Given the description of an element on the screen output the (x, y) to click on. 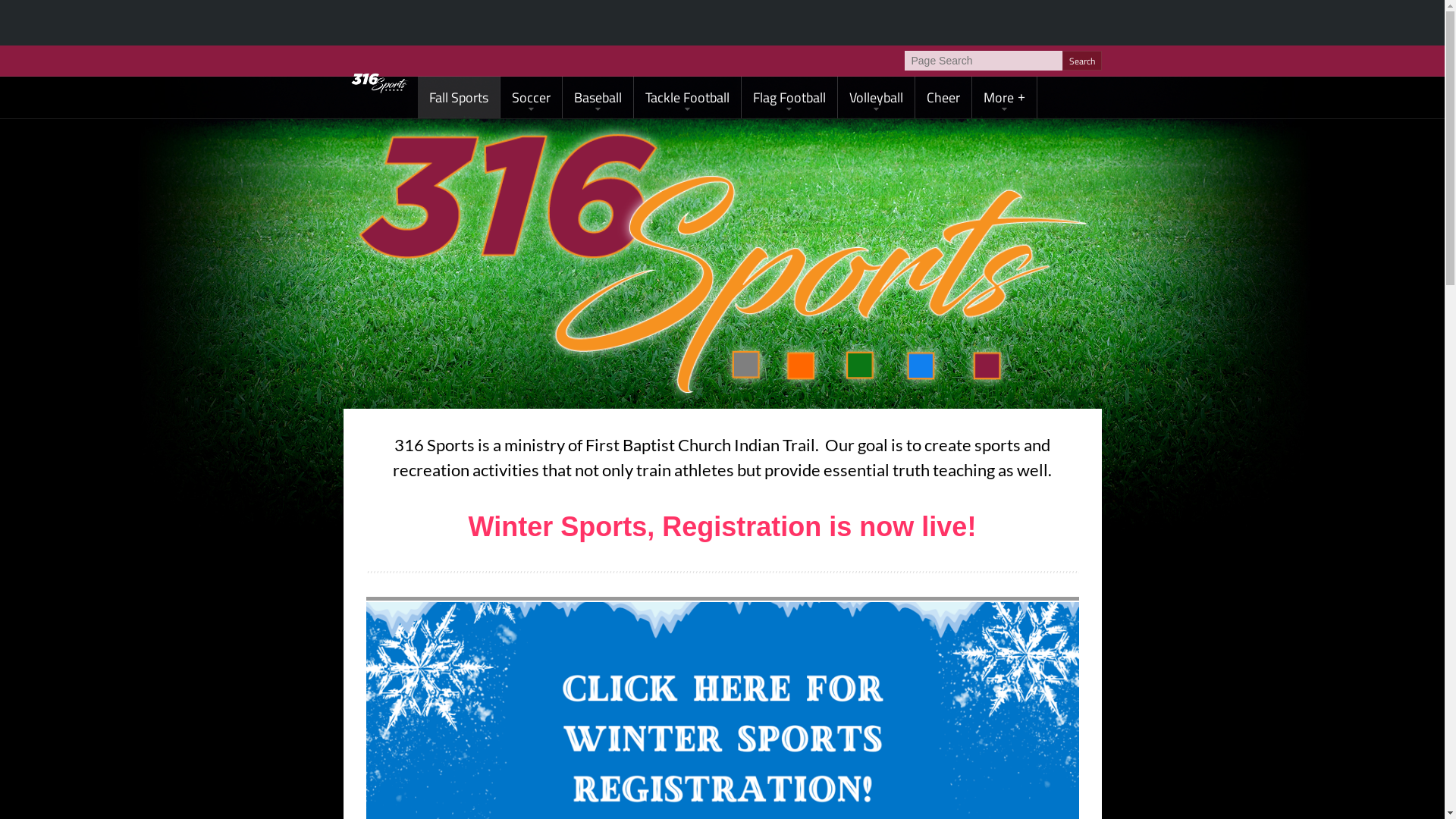
Soccer Element type: text (530, 97)
Flag Football Element type: text (789, 97)
Fall Sports Element type: text (457, 97)
Volleyball Element type: text (875, 97)
More Element type: text (1004, 97)
Cheer Element type: text (942, 97)
Tackle Football Element type: text (686, 97)
Baseball Element type: text (597, 97)
